Given the description of an element on the screen output the (x, y) to click on. 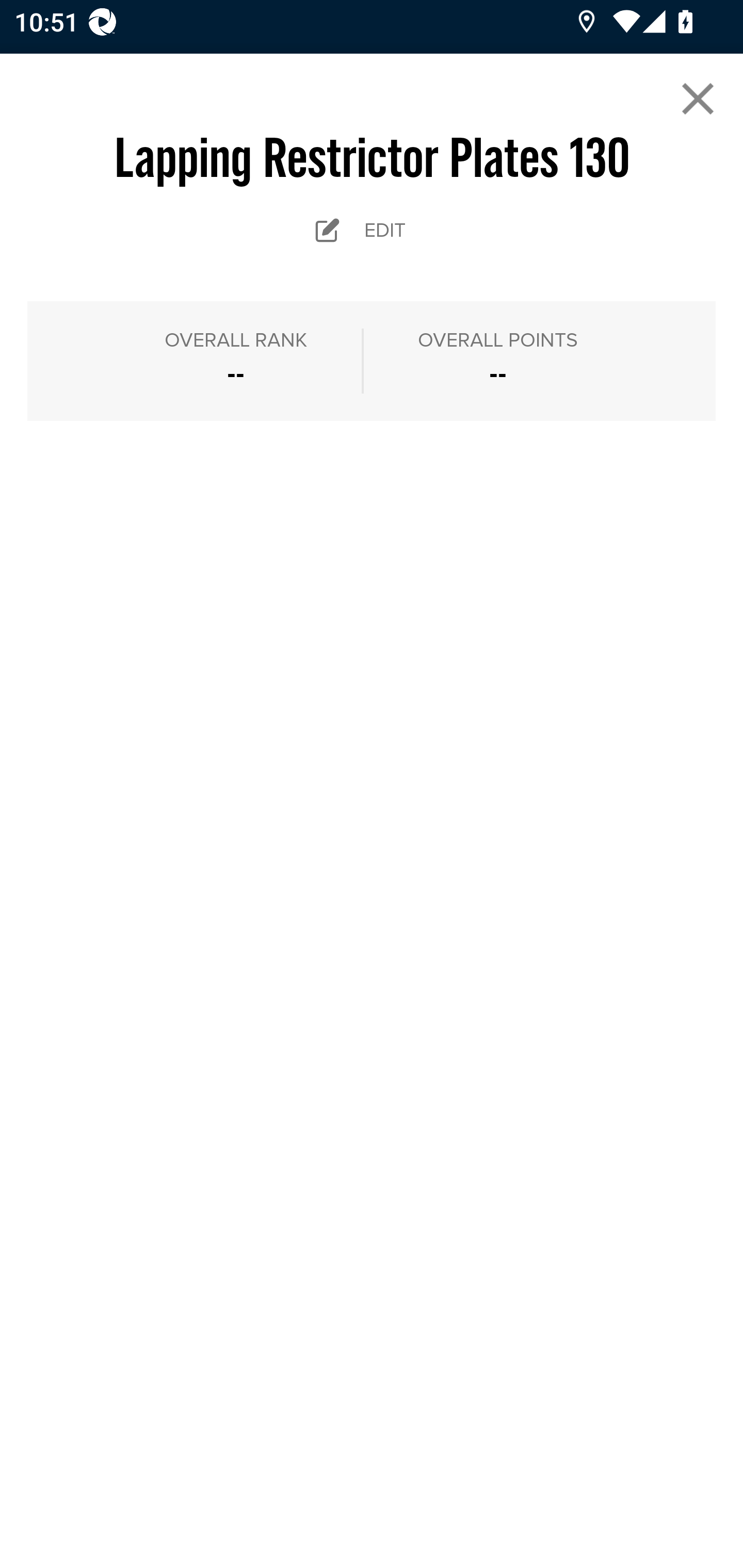
EDIT (371, 230)
